Given the description of an element on the screen output the (x, y) to click on. 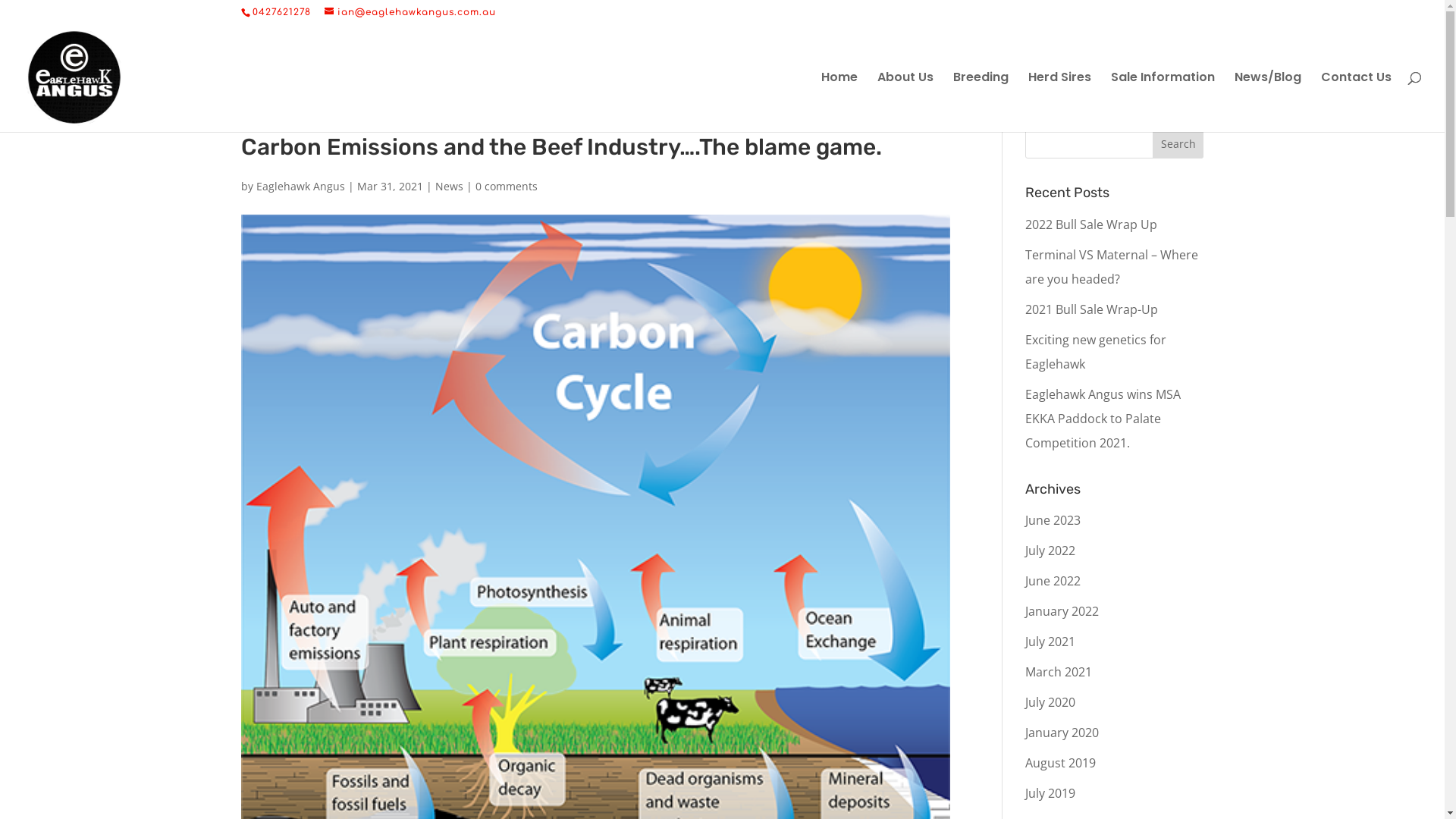
Breeding Element type: text (980, 101)
August 2019 Element type: text (1060, 762)
June 2023 Element type: text (1052, 519)
2022 Bull Sale Wrap Up Element type: text (1091, 224)
Eaglehawk Angus Element type: text (300, 185)
Exciting new genetics for Eaglehawk Element type: text (1095, 351)
July 2019 Element type: text (1050, 792)
January 2020 Element type: text (1061, 732)
2021 Bull Sale Wrap-Up Element type: text (1091, 309)
0 comments Element type: text (505, 185)
Sale Information Element type: text (1162, 101)
Contact Us Element type: text (1356, 101)
Search Element type: text (1178, 143)
About Us Element type: text (905, 101)
News/Blog Element type: text (1267, 101)
January 2022 Element type: text (1061, 610)
Home Element type: text (839, 101)
July 2022 Element type: text (1050, 550)
June 2022 Element type: text (1052, 580)
Herd Sires Element type: text (1059, 101)
March 2021 Element type: text (1058, 671)
News Element type: text (449, 185)
July 2021 Element type: text (1050, 641)
ian@eaglehawkangus.com.au Element type: text (409, 11)
July 2020 Element type: text (1050, 701)
